Given the description of an element on the screen output the (x, y) to click on. 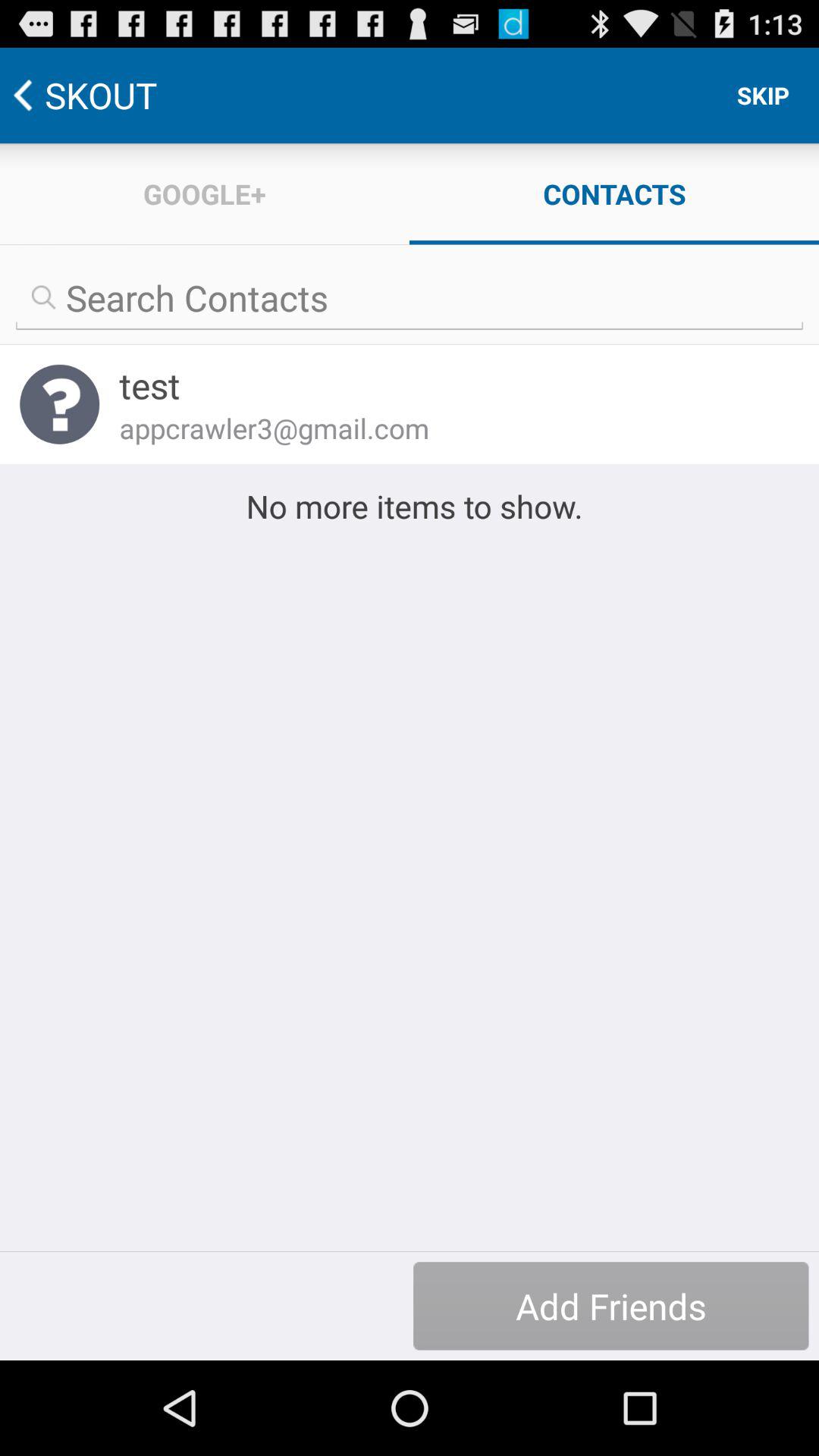
flip until the no more items (409, 505)
